Given the description of an element on the screen output the (x, y) to click on. 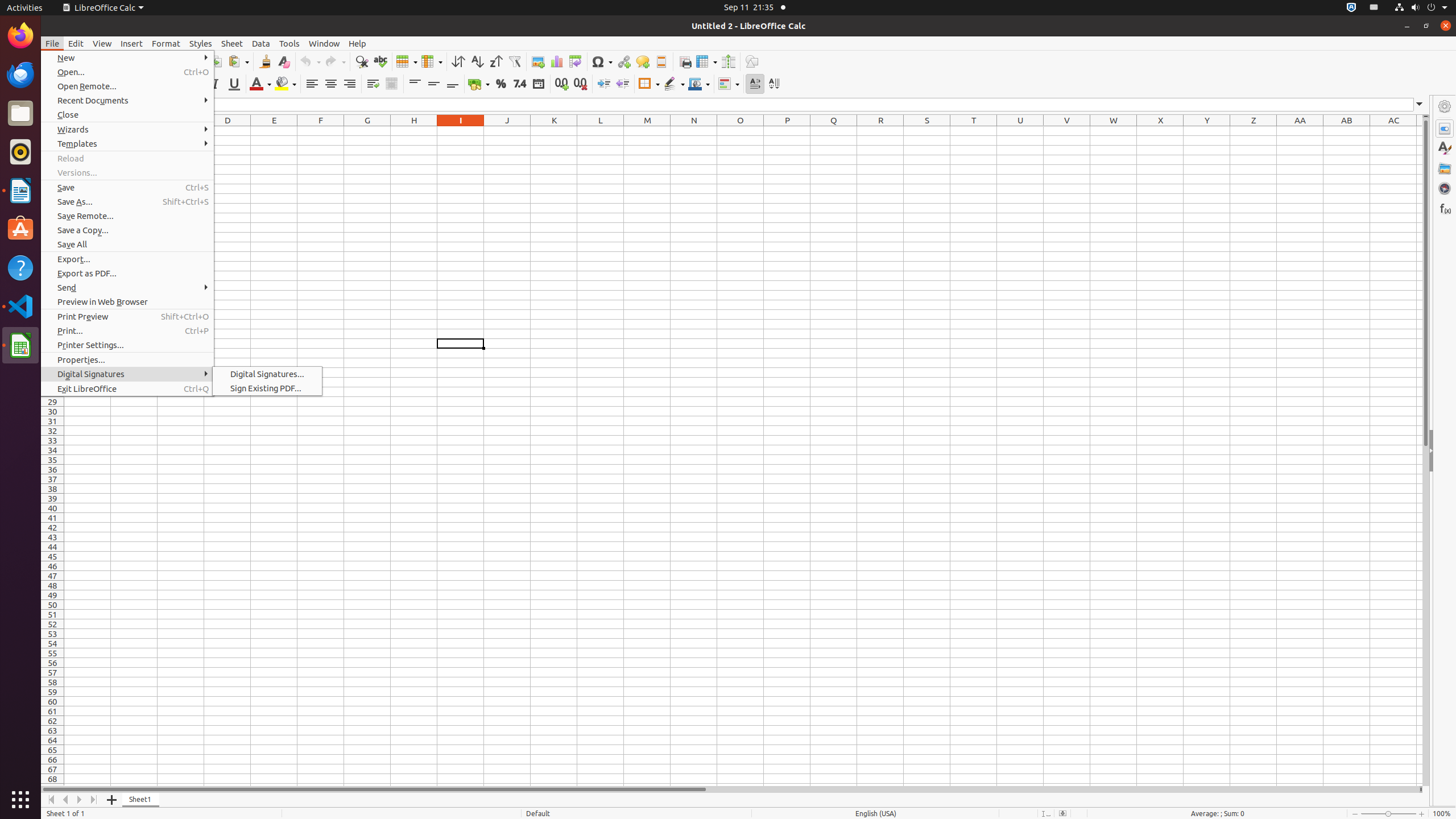
Date Element type: push-button (537, 83)
